Given the description of an element on the screen output the (x, y) to click on. 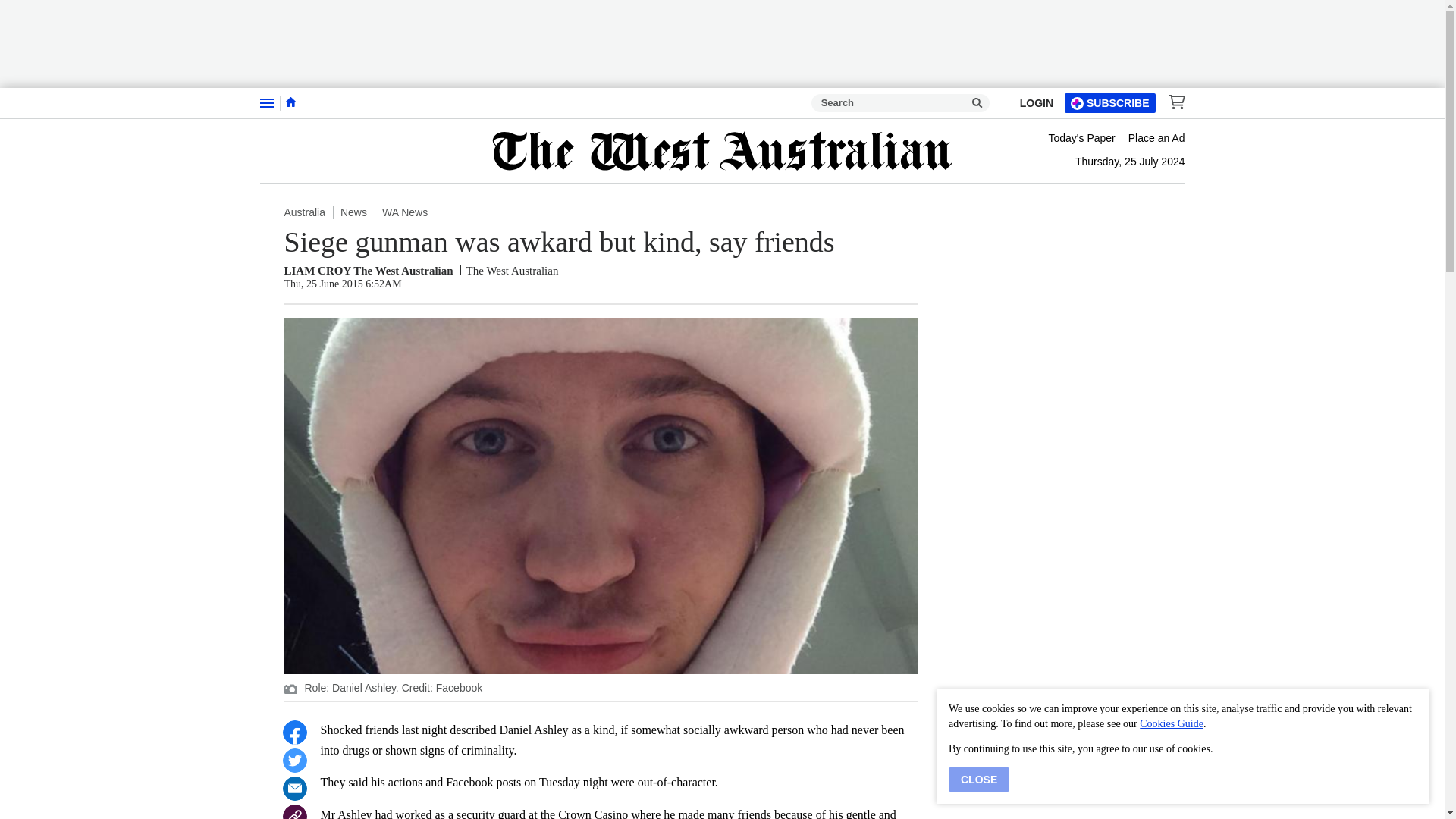
Please enter a search term. (977, 102)
Empty Cart Icon (1172, 102)
Home (290, 102)
